Given the description of an element on the screen output the (x, y) to click on. 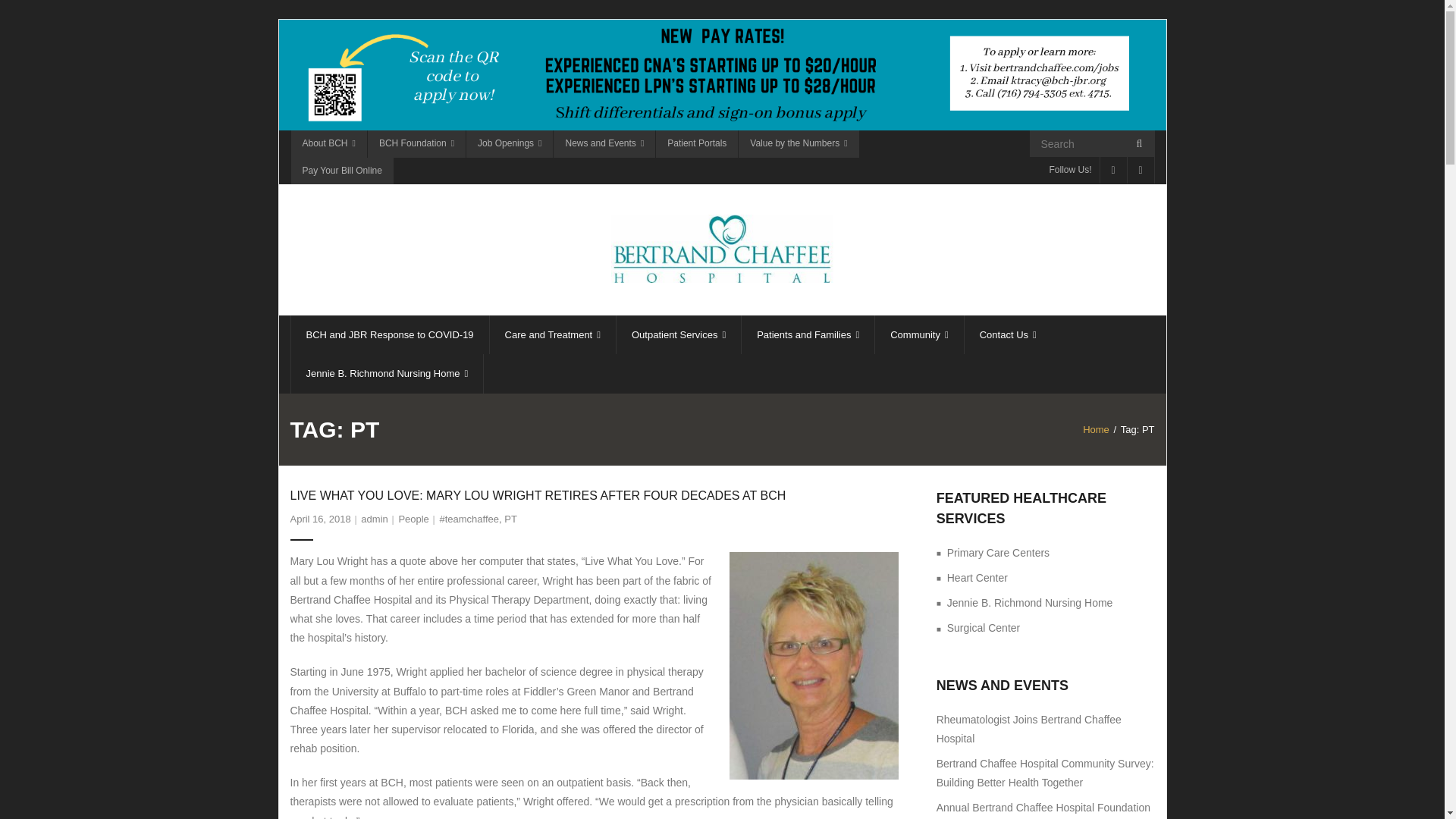
View all posts by admin (374, 518)
News and Events (604, 144)
Pay Your Bill Online (341, 171)
About BCH (327, 144)
Patient Portals (696, 144)
BCH and JBR Response to COVID-19 (388, 334)
Job Openings (509, 144)
BCH Foundation (415, 144)
